Given the description of an element on the screen output the (x, y) to click on. 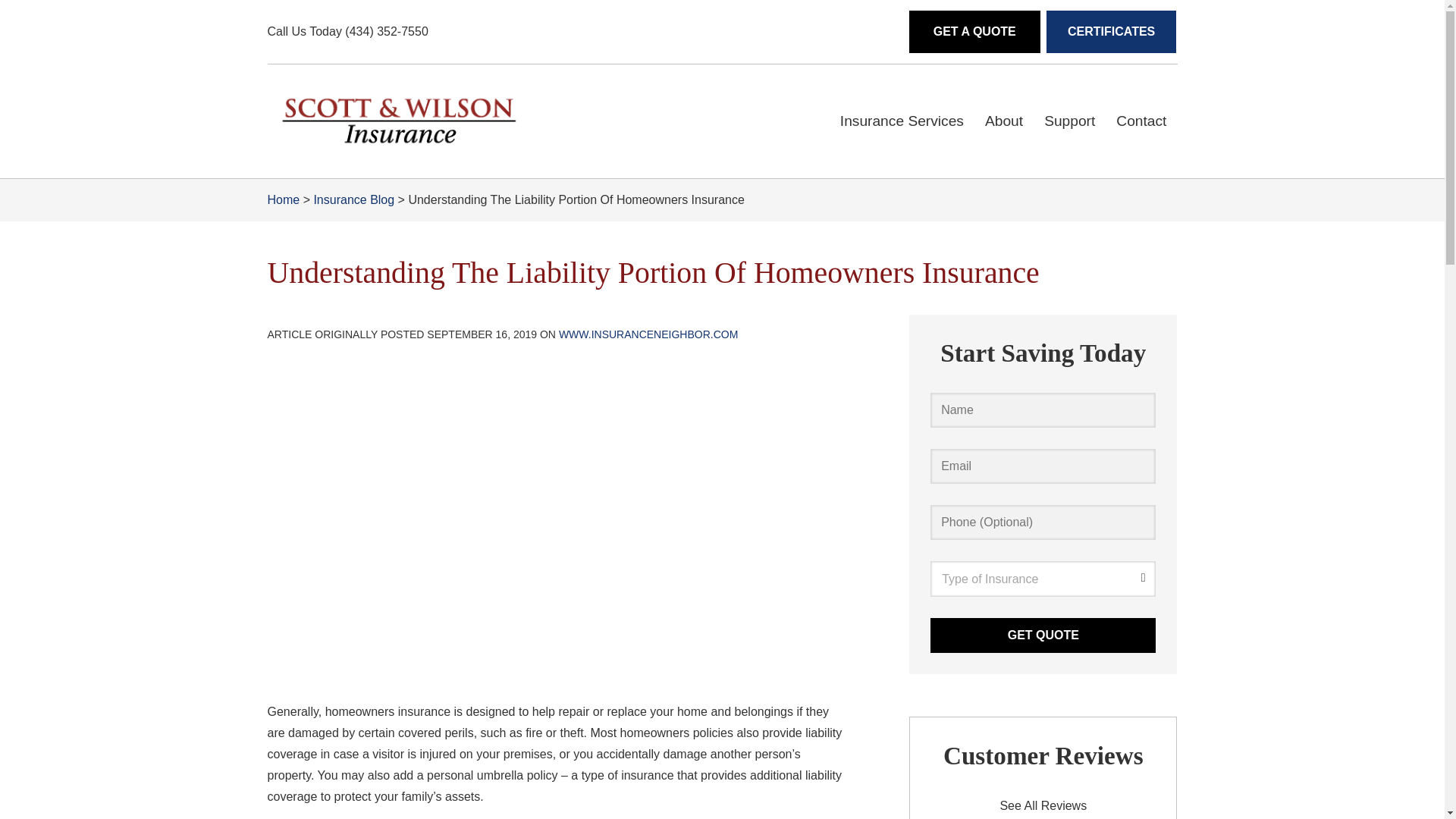
GET A QUOTE (974, 31)
Get Quote (1043, 635)
Insurance Services (901, 121)
Contact (1140, 121)
Support (1069, 121)
About (1003, 121)
CERTIFICATES (1111, 31)
